Given the description of an element on the screen output the (x, y) to click on. 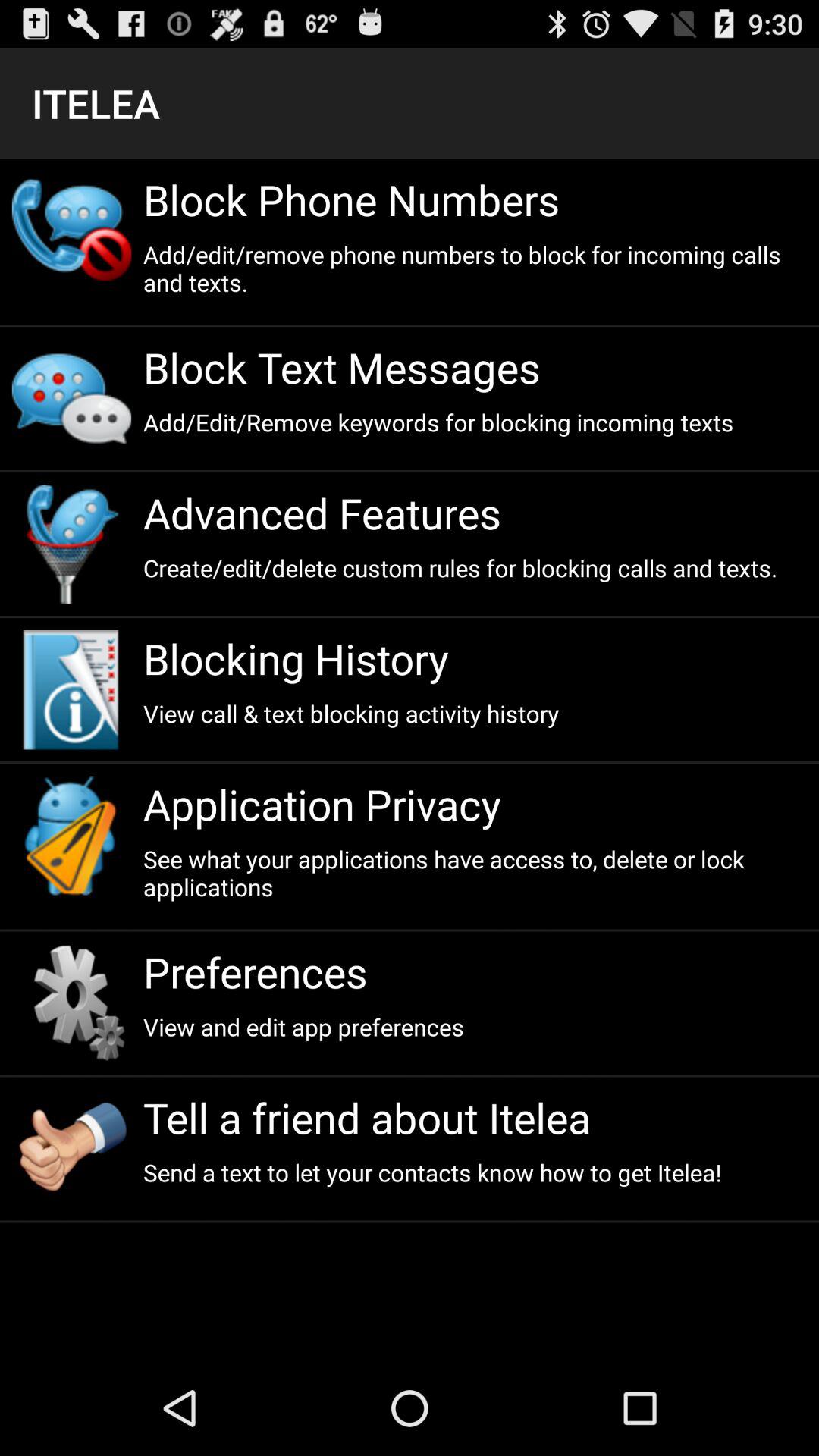
jump to the block text messages item (475, 366)
